Given the description of an element on the screen output the (x, y) to click on. 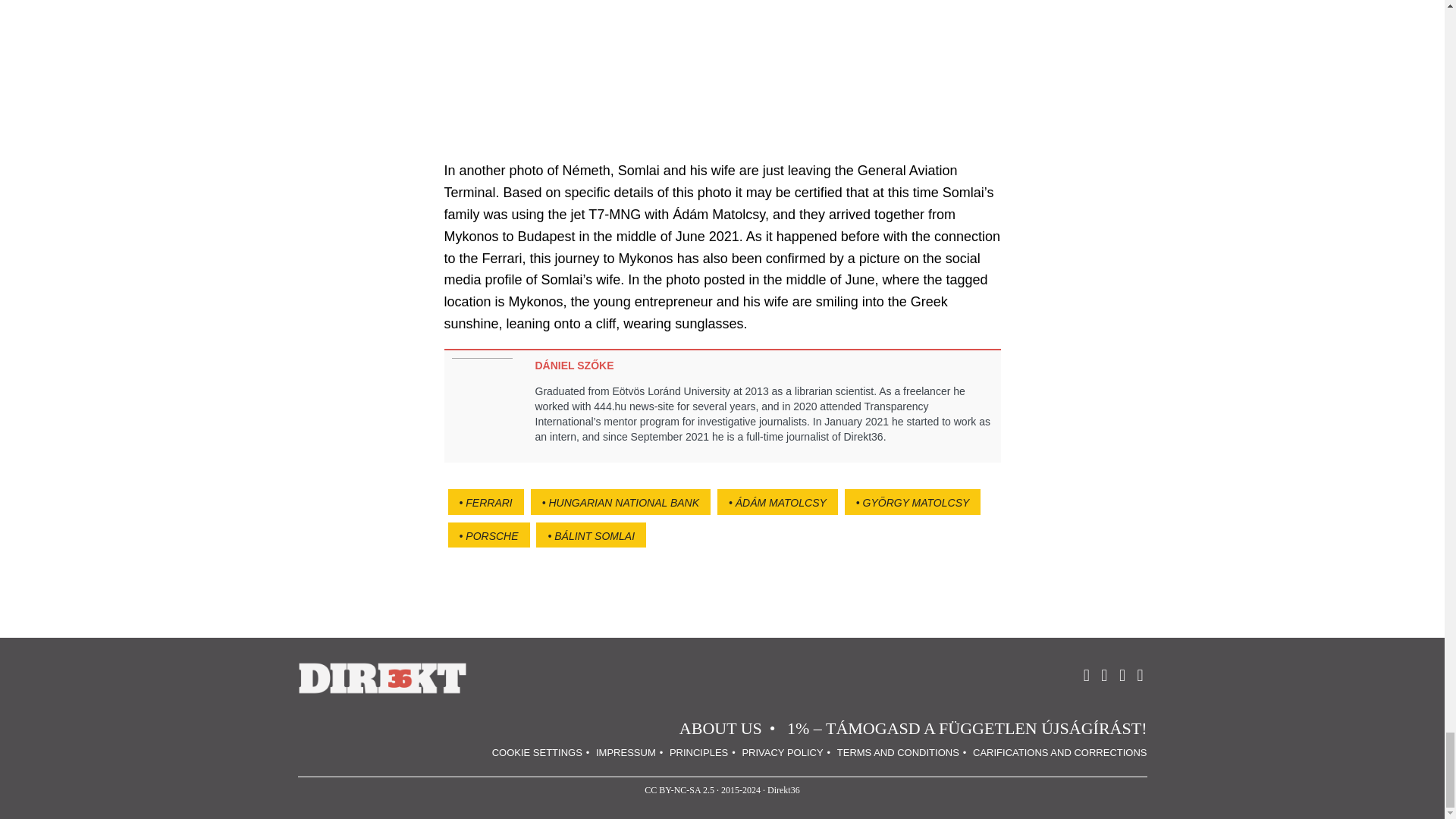
PORSCHE (487, 534)
FERRARI (484, 501)
HUNGARIAN NATIONAL BANK (620, 501)
